Given the description of an element on the screen output the (x, y) to click on. 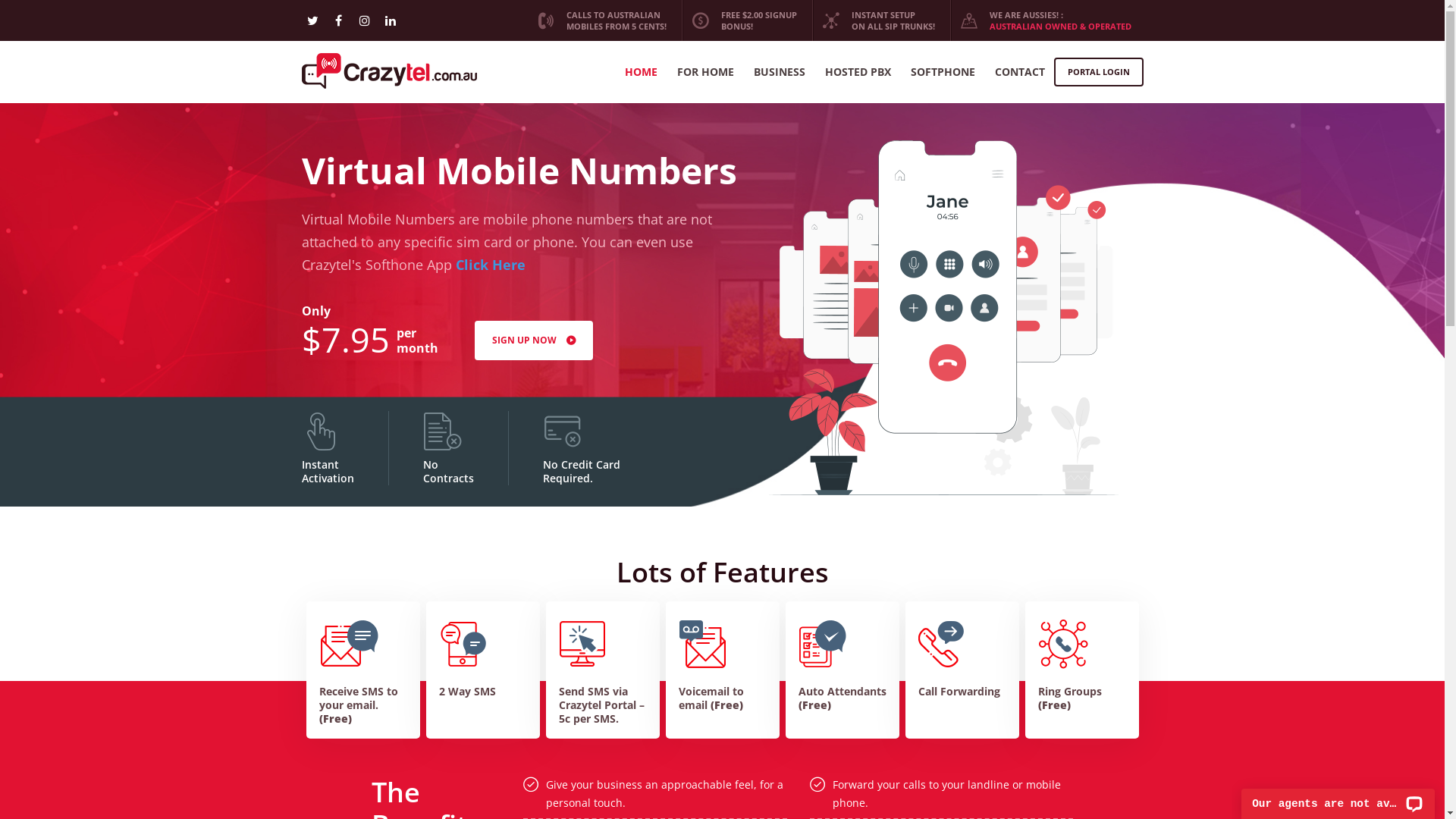
SOFTPHONE Element type: text (942, 71)
SIGN UP NOW Element type: text (533, 340)
PORTAL LOGIN Element type: text (1098, 71)
Click Here Element type: text (489, 264)
FOR HOME Element type: text (704, 71)
CALLS TO AUSTRALIAN
MOBILES FROM 5 CENTS! Element type: text (601, 20)
FREE $2.00 SIGNUP
BONUS! Element type: text (744, 20)
HOSTED PBX Element type: text (858, 71)
CONTACT Element type: text (1019, 71)
WE ARE AUSSIES! :
AUSTRALIAN OWNED & OPERATED Element type: text (1045, 20)
BUSINESS Element type: text (779, 71)
HOME Element type: text (640, 71)
INSTANT SETUP
ON ALL SIP TRUNKS! Element type: text (878, 20)
